Given the description of an element on the screen output the (x, y) to click on. 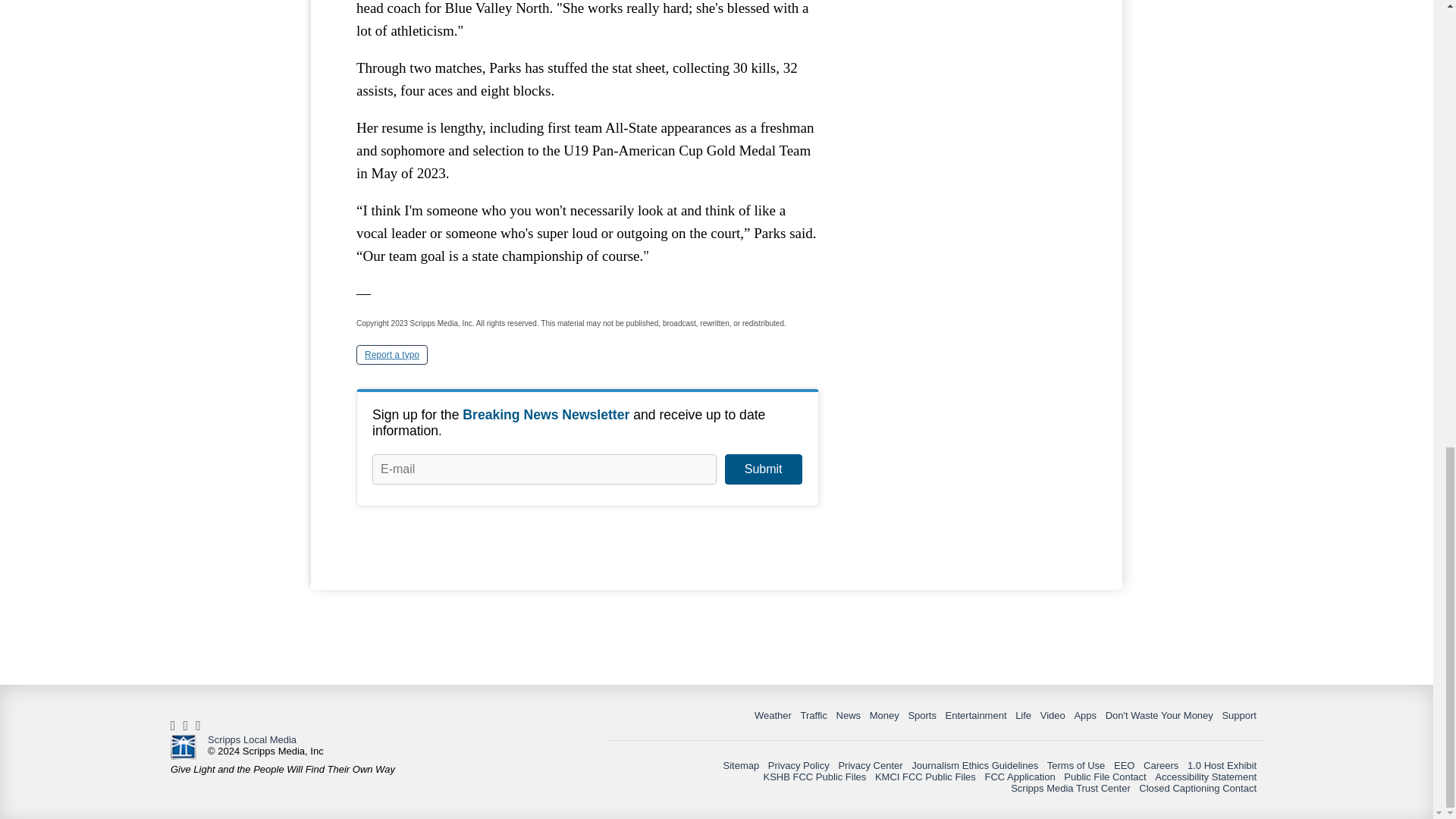
Submit (763, 469)
